Given the description of an element on the screen output the (x, y) to click on. 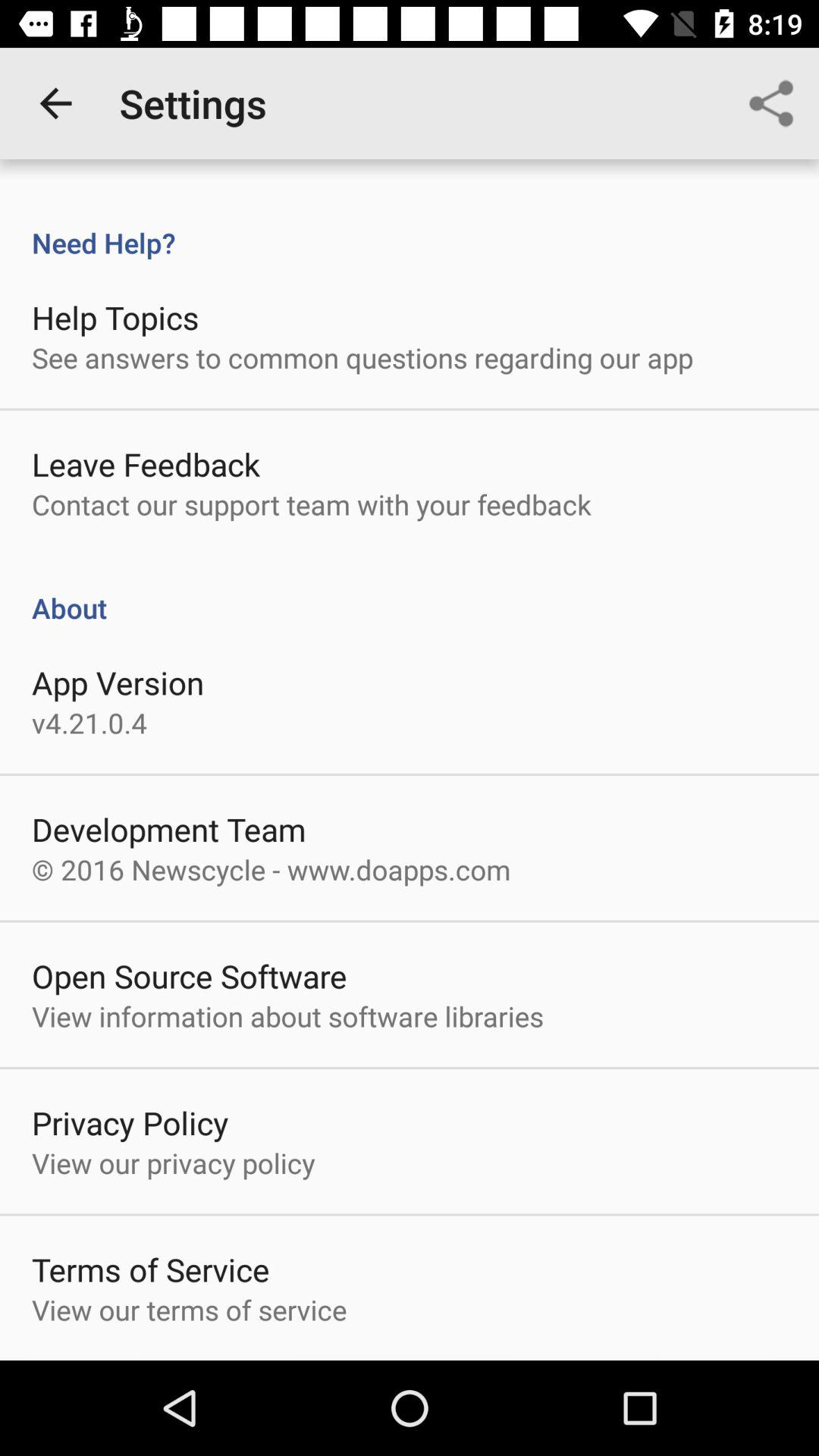
open icon at the top right corner (771, 103)
